Given the description of an element on the screen output the (x, y) to click on. 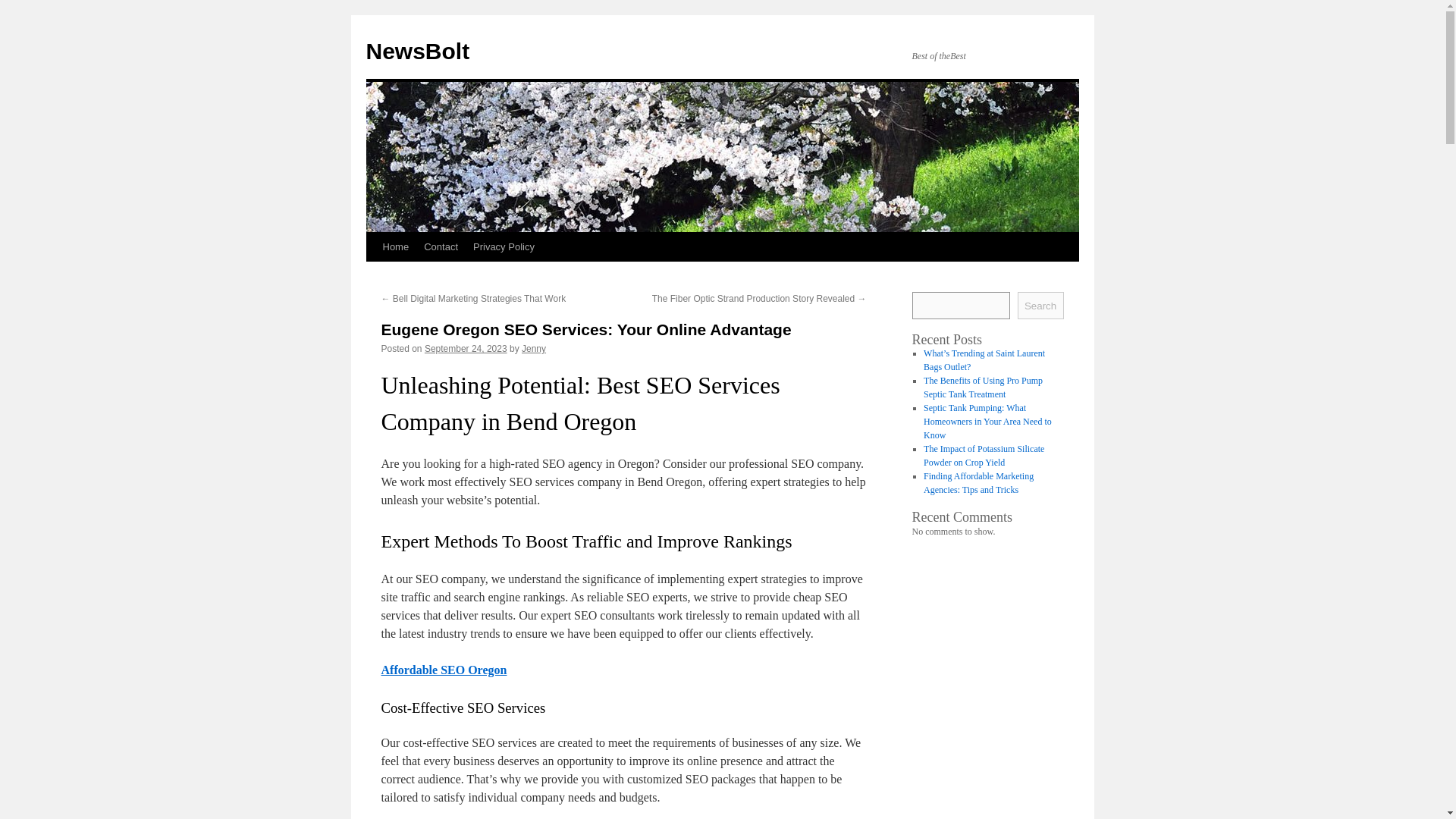
Home (395, 246)
Contact (440, 246)
View all posts by Jenny (533, 348)
9:55 pm (465, 348)
Affordable SEO Oregon (443, 669)
Jenny (533, 348)
Search (1040, 305)
Privacy Policy (503, 246)
The Impact of Potassium Silicate Powder on Crop Yield (983, 455)
The Benefits of Using Pro Pump Septic Tank Treatment (982, 387)
